Given the description of an element on the screen output the (x, y) to click on. 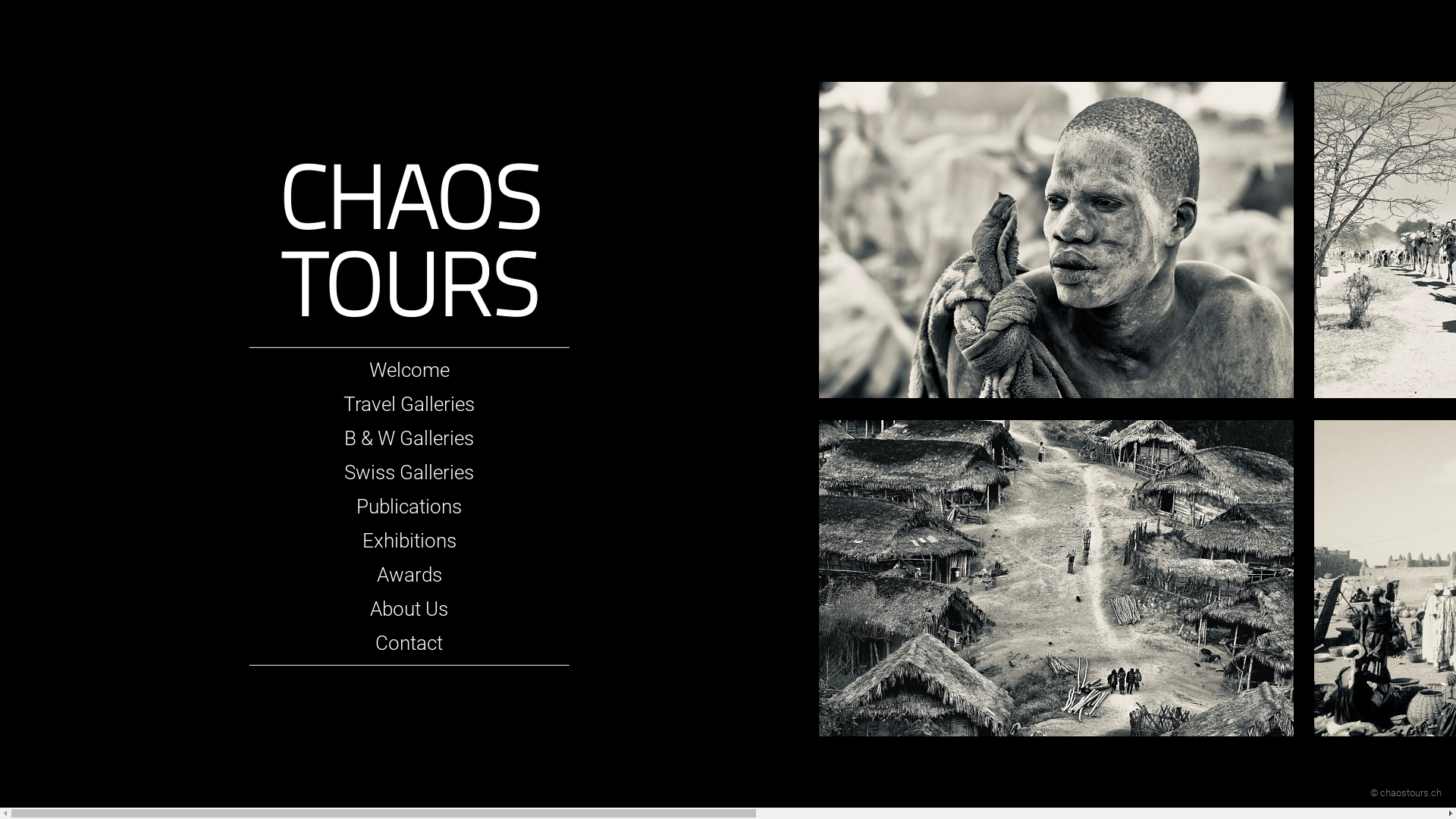
Publications Element type: text (408, 506)
Swiss Galleries Element type: text (408, 472)
Travel Galleries Element type: text (408, 403)
About Us Element type: text (409, 608)
Contact Element type: text (408, 642)
Welcome Element type: text (409, 369)
Awards Element type: text (409, 574)
Exhibitions Element type: text (409, 540)
B & W Galleries Element type: text (408, 437)
